Given the description of an element on the screen output the (x, y) to click on. 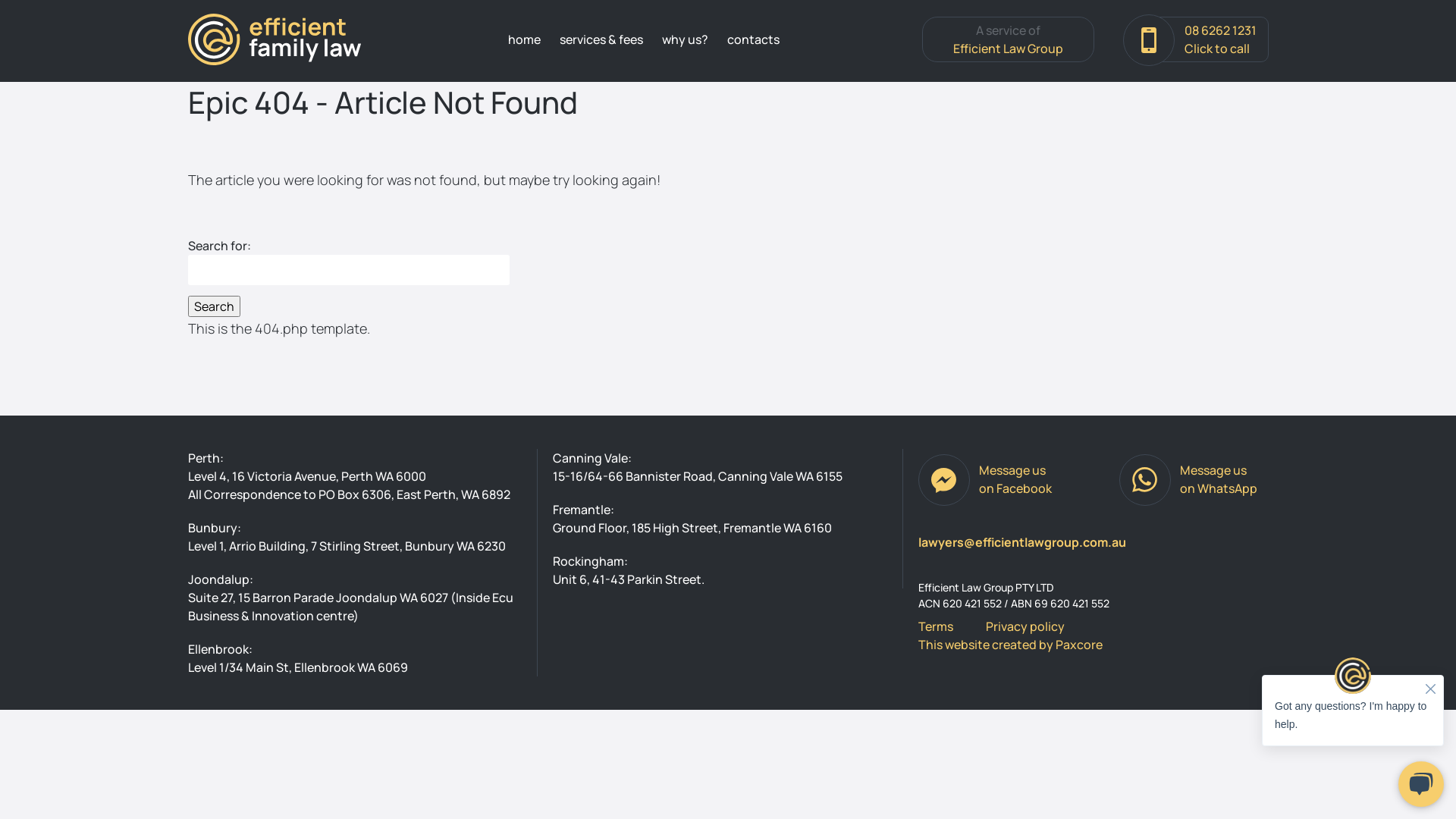
lawyers@efficientlawgroup.com.au Element type: text (1093, 542)
08 6262 1231
Click to call Element type: text (1194, 39)
home Element type: text (524, 39)
This website created by Paxcore Element type: text (1010, 644)
why us? Element type: text (685, 39)
contacts Element type: text (753, 39)
A service of
Efficient Law Group Element type: text (1008, 39)
Message us
on Facebook Element type: text (990, 479)
Terms Element type: text (935, 626)
Message us
on WhatsApp Element type: text (1193, 479)
Privacy policy Element type: text (1024, 626)
Search Element type: text (214, 305)
services & fees Element type: text (601, 39)
